Given the description of an element on the screen output the (x, y) to click on. 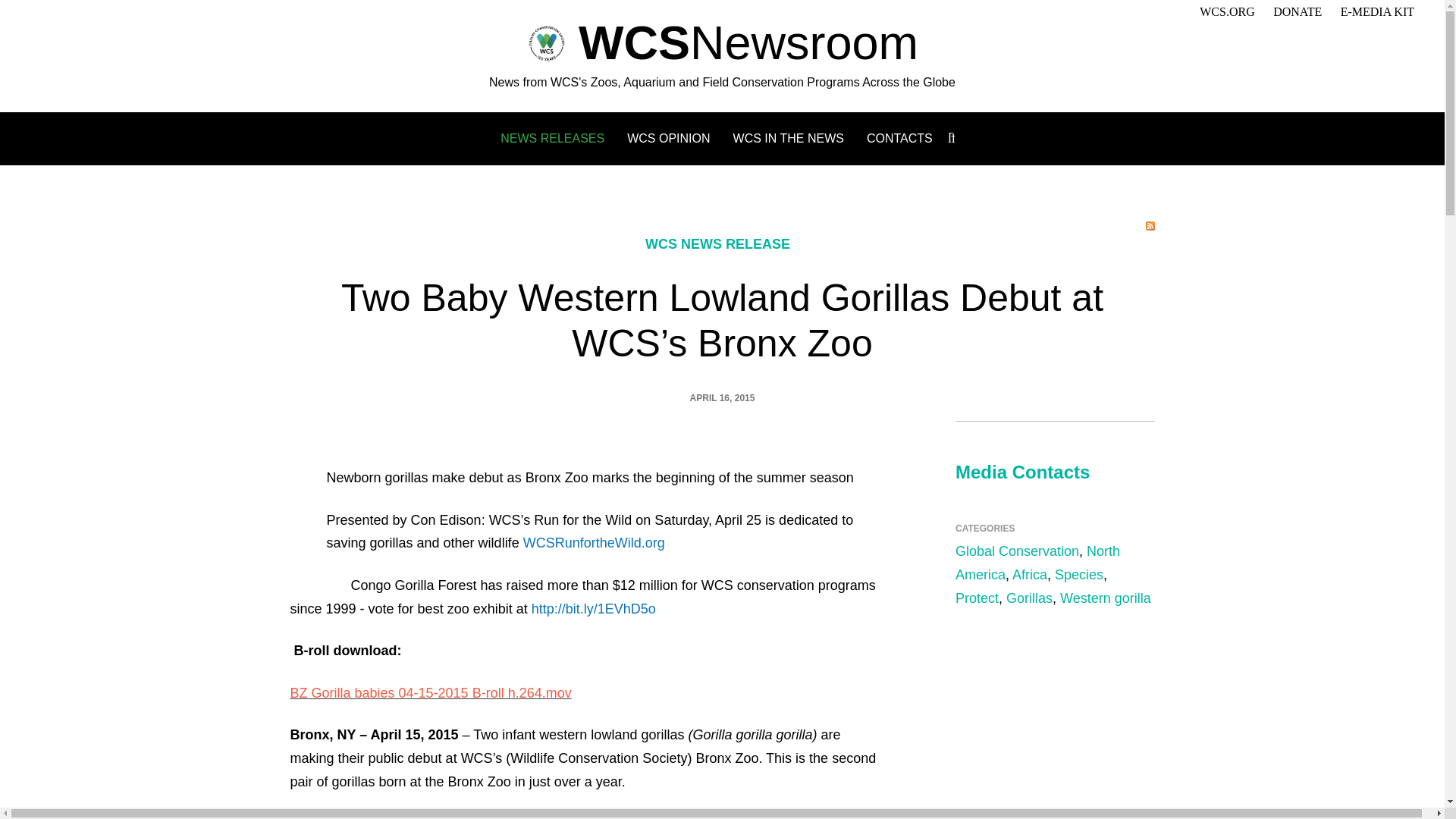
North America (1037, 562)
Africa (1028, 574)
WCSRunfortheWild.org (593, 542)
DONATE (1297, 11)
NEWS RELEASES (552, 138)
E-MEDIA KIT (1376, 11)
Western gorilla (1105, 598)
Global Conservation (1016, 550)
Gorillas (1029, 598)
